Given the description of an element on the screen output the (x, y) to click on. 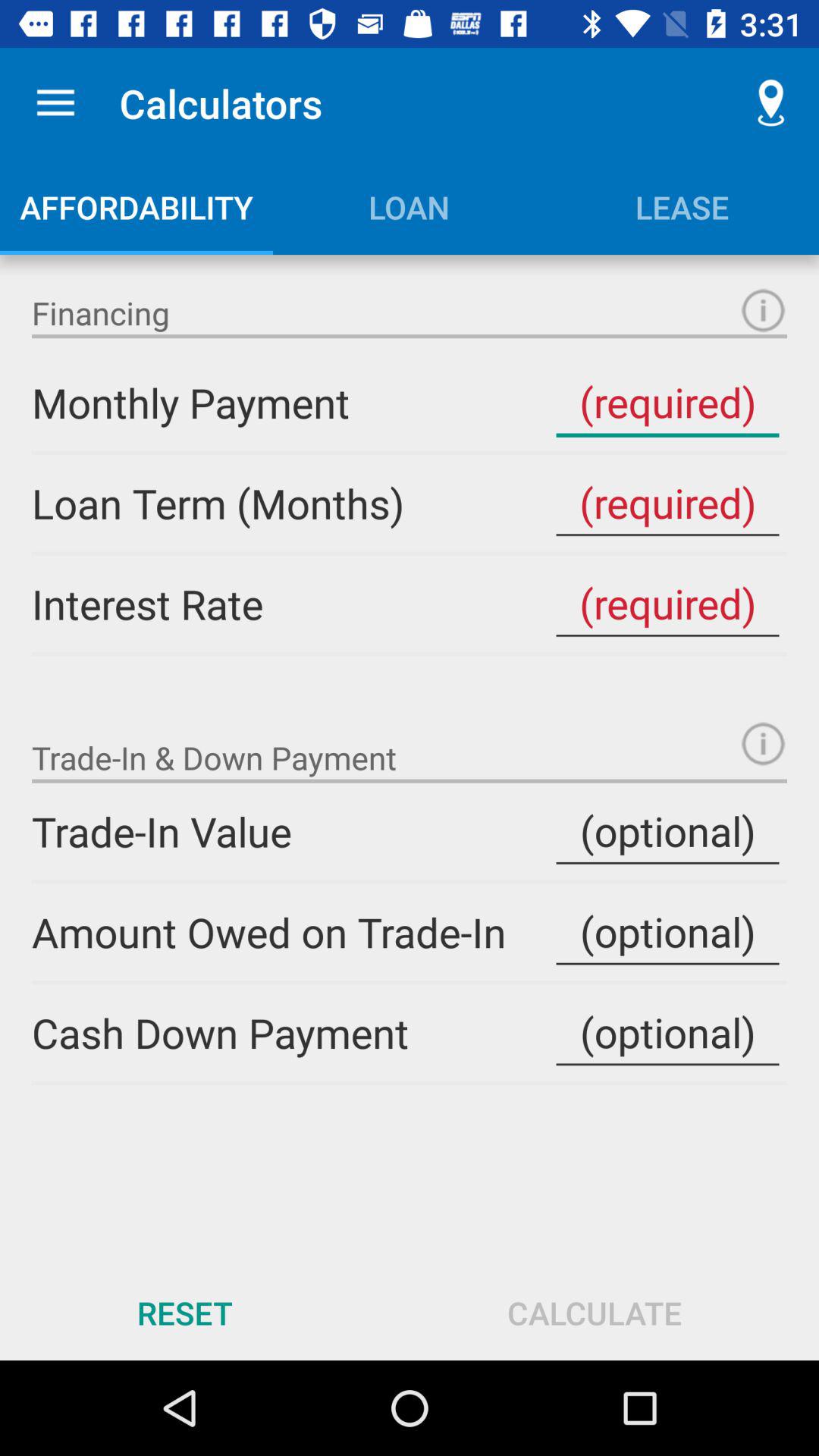
get info (763, 310)
